Given the description of an element on the screen output the (x, y) to click on. 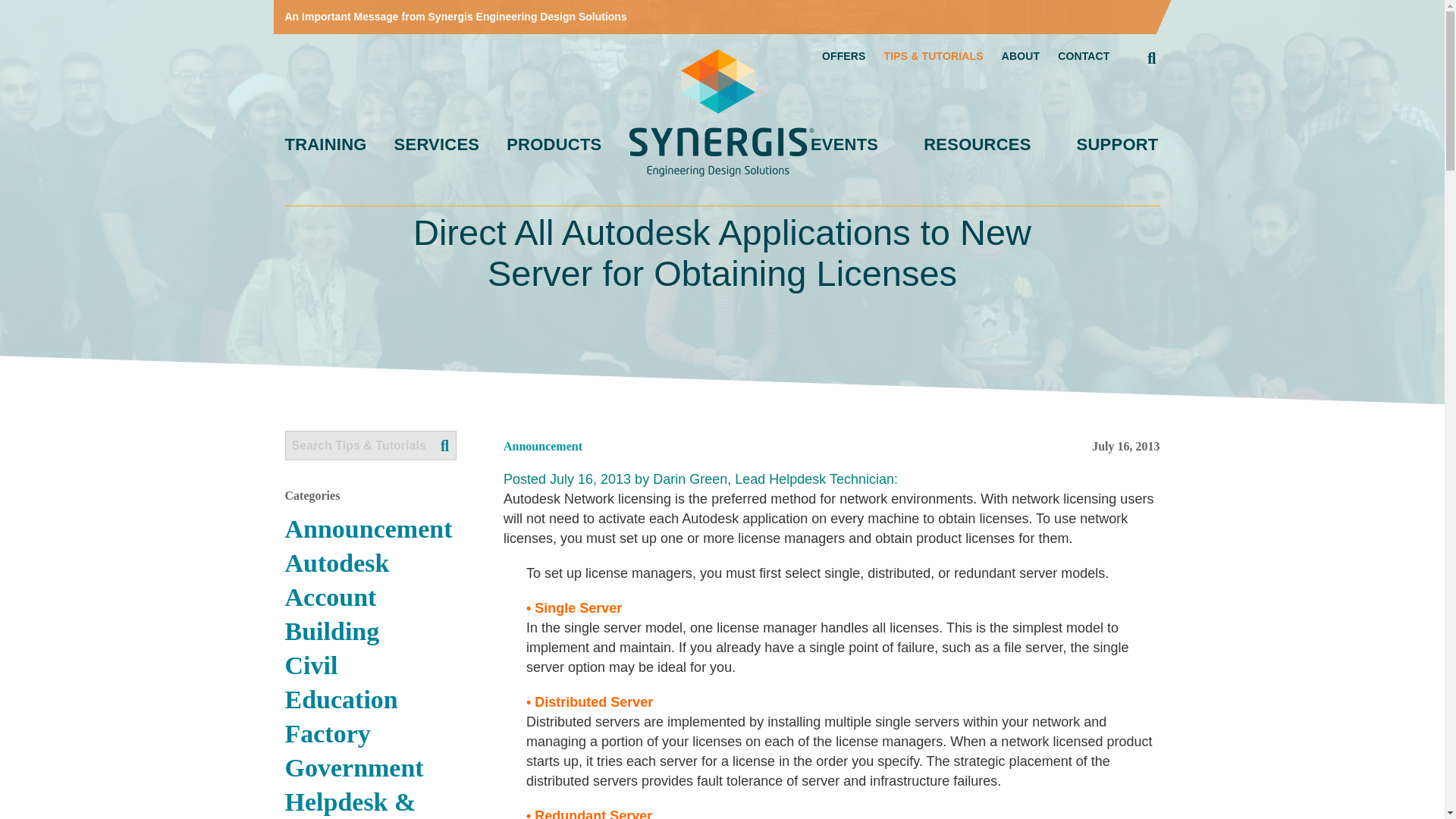
OFFERS (844, 56)
SERVICES (437, 144)
CONTACT (1083, 56)
PRODUCTS (553, 144)
EVENTS (843, 144)
ABOUT (1020, 56)
TRAINING (325, 144)
